Given the description of an element on the screen output the (x, y) to click on. 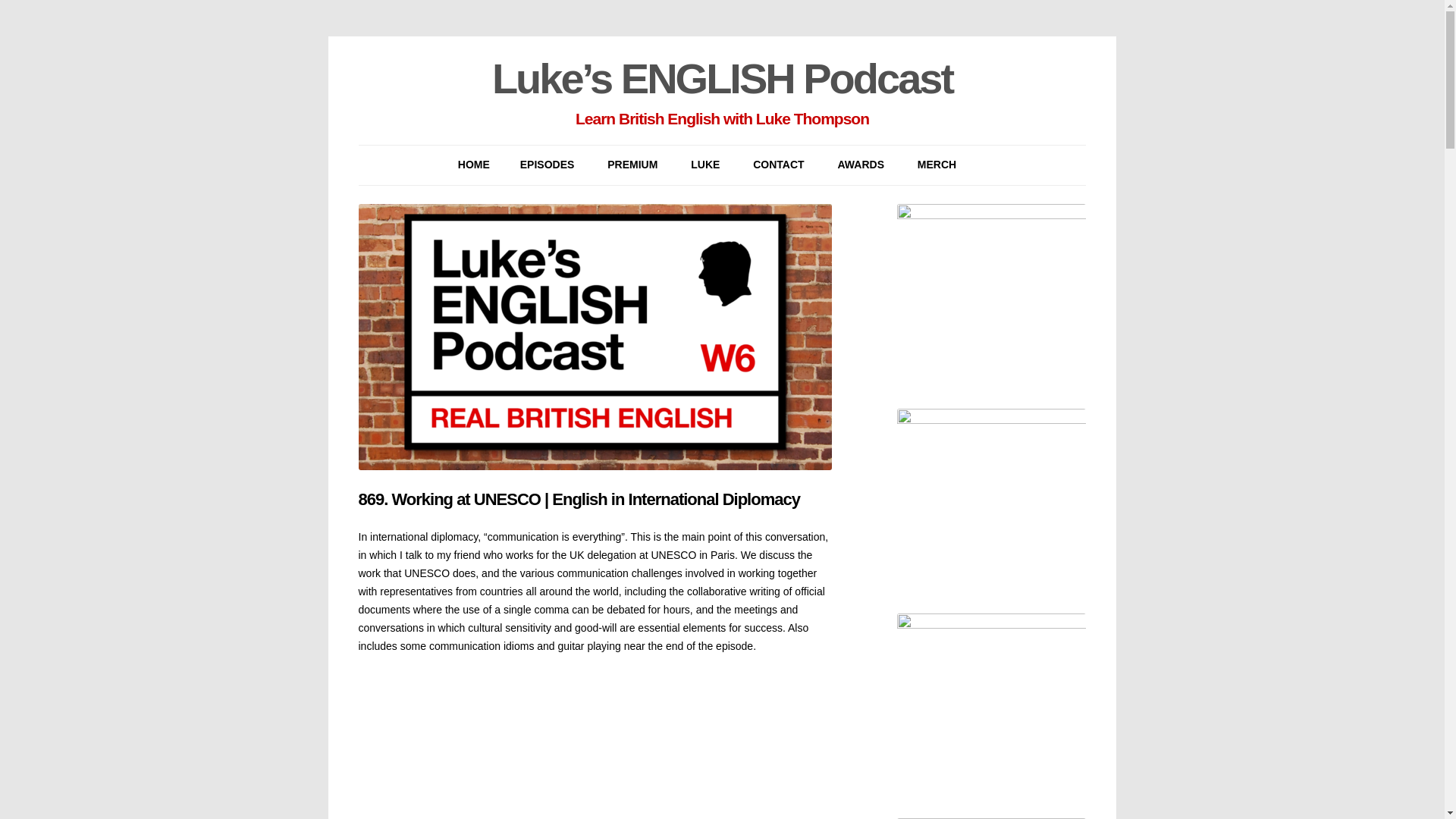
MERCH (936, 165)
WHO IS LUKE? (766, 200)
CONTACT (777, 165)
EMAIL LUKE (828, 200)
EPISODES (547, 165)
AWARDS (860, 165)
PREMIUM (632, 165)
